Given the description of an element on the screen output the (x, y) to click on. 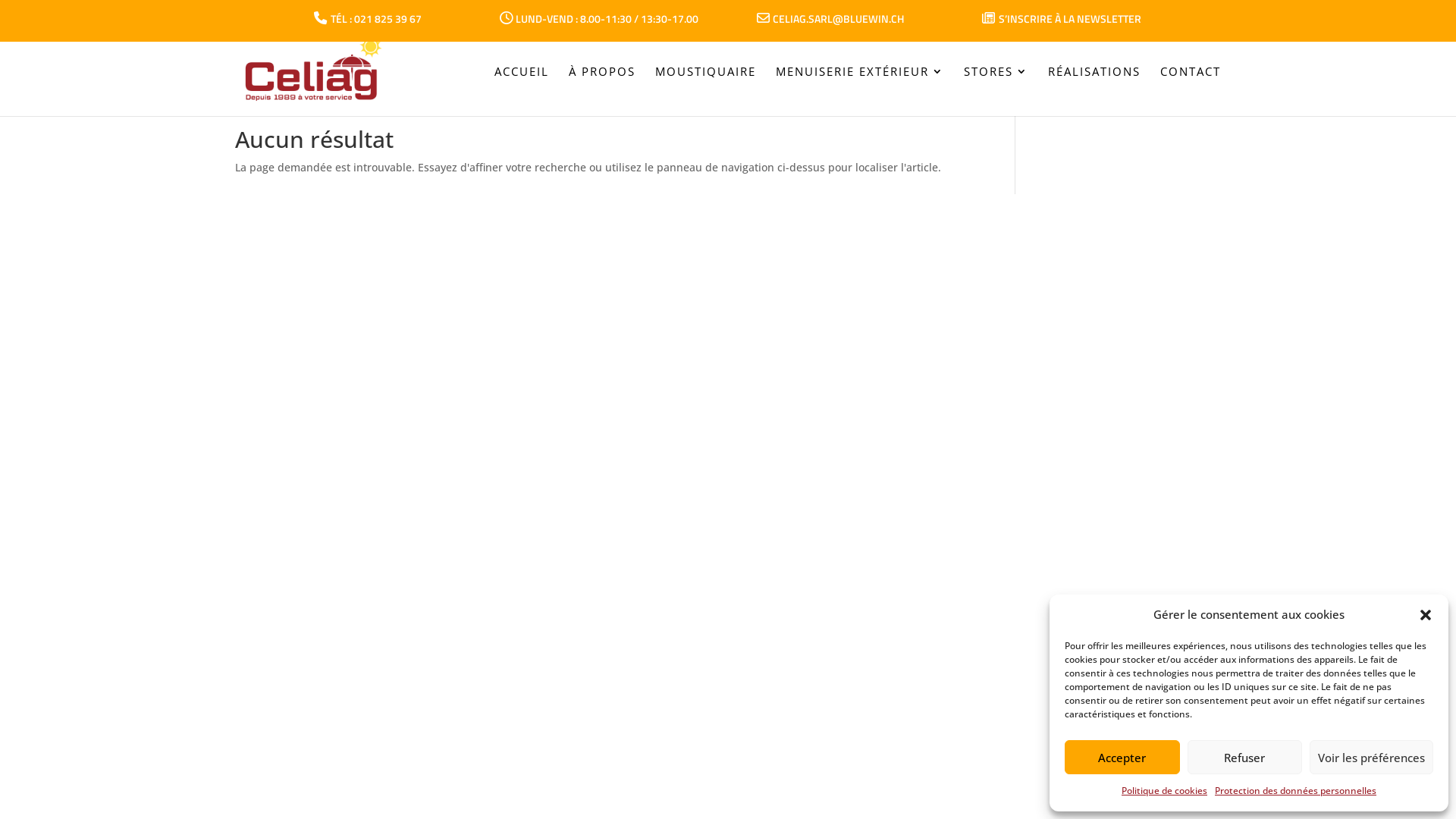
LUND-VEND : 8.00-11:30 / 13:30-17.00 Element type: text (599, 19)
CELIAG.SARL@BLUEWIN.CH Element type: text (830, 19)
CONTACT Element type: text (1190, 92)
ACCUEIL Element type: text (521, 92)
MOUSTIQUAIRE Element type: text (705, 92)
Accepter Element type: text (1121, 757)
Refuser Element type: text (1244, 757)
STORES Element type: text (995, 92)
Politique de cookies Element type: text (1164, 790)
